Given the description of an element on the screen output the (x, y) to click on. 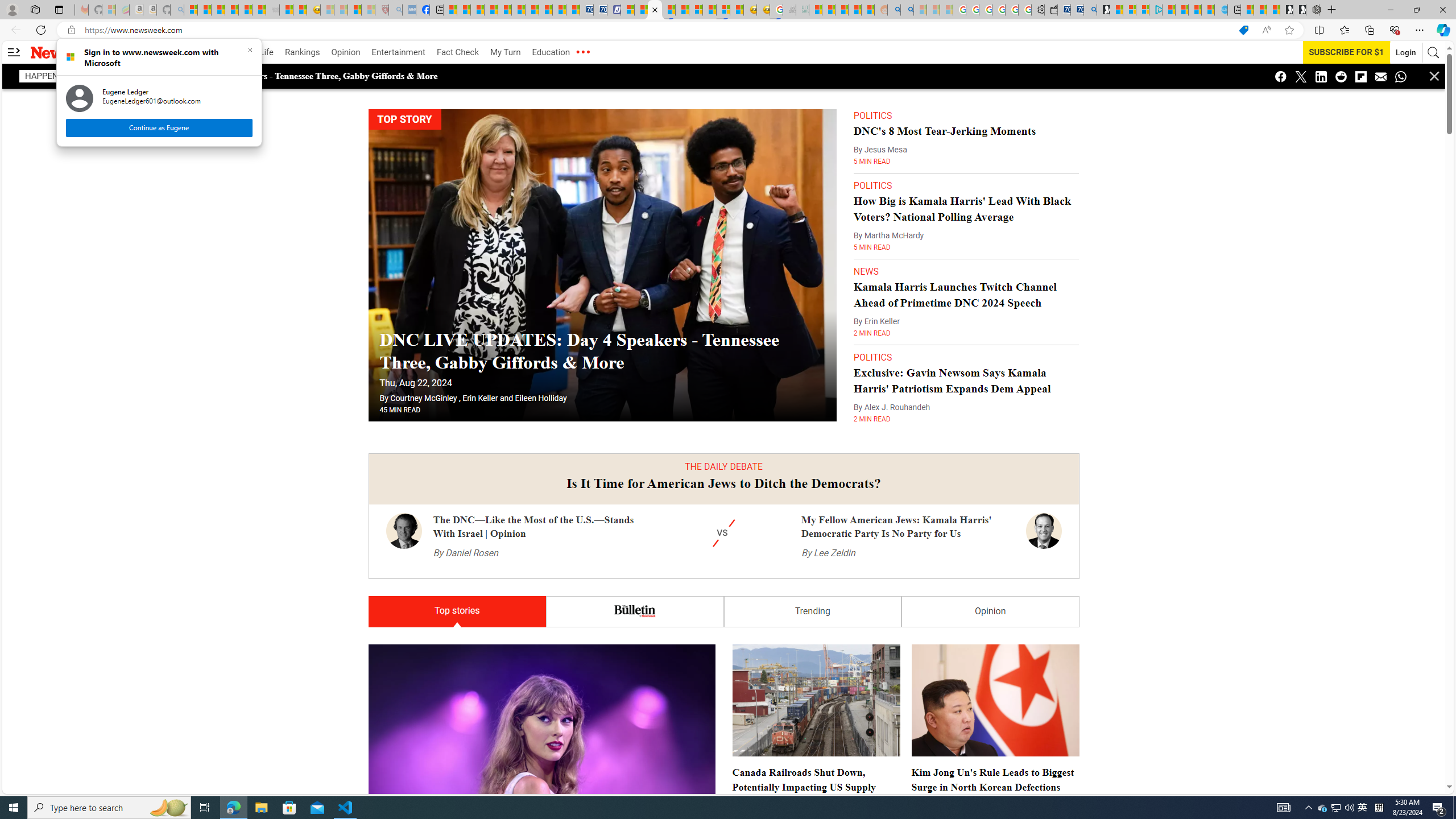
Erin Keller (480, 397)
POLITICS (872, 357)
AutomationID: moreOptions (582, 51)
